Given the description of an element on the screen output the (x, y) to click on. 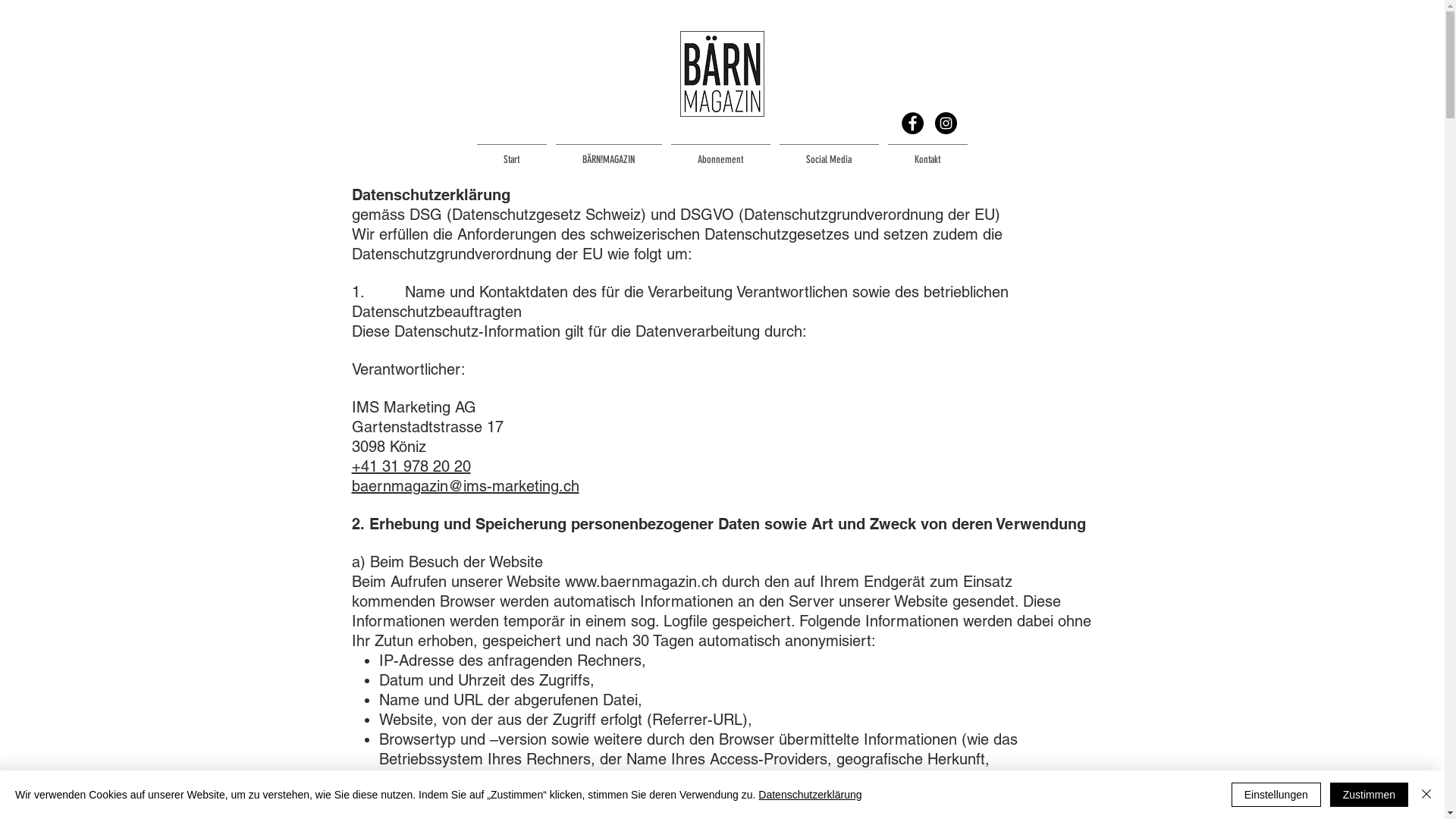
Kontakt Element type: text (926, 153)
Abonnement Element type: text (719, 153)
Start Element type: text (510, 153)
Zustimmen Element type: text (1369, 794)
www.baernmagazin.ch Element type: text (640, 581)
Einstellungen Element type: text (1276, 794)
Social Media Element type: text (829, 153)
baernmagazin@ims-marketing.ch Element type: text (465, 485)
